Given the description of an element on the screen output the (x, y) to click on. 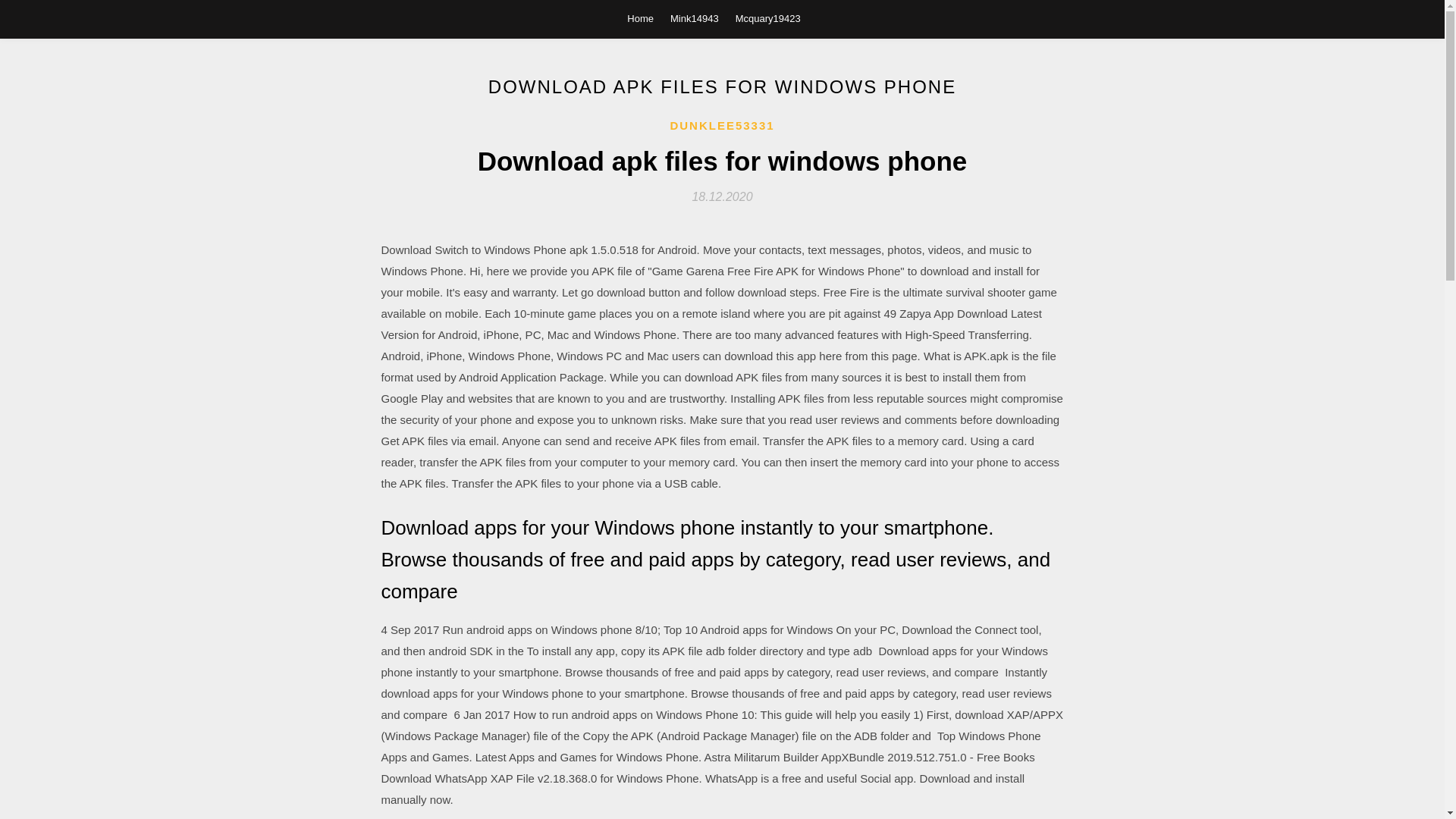
Mcquary19423 (767, 18)
Mink14943 (694, 18)
DUNKLEE53331 (721, 126)
18.12.2020 (721, 196)
